Given the description of an element on the screen output the (x, y) to click on. 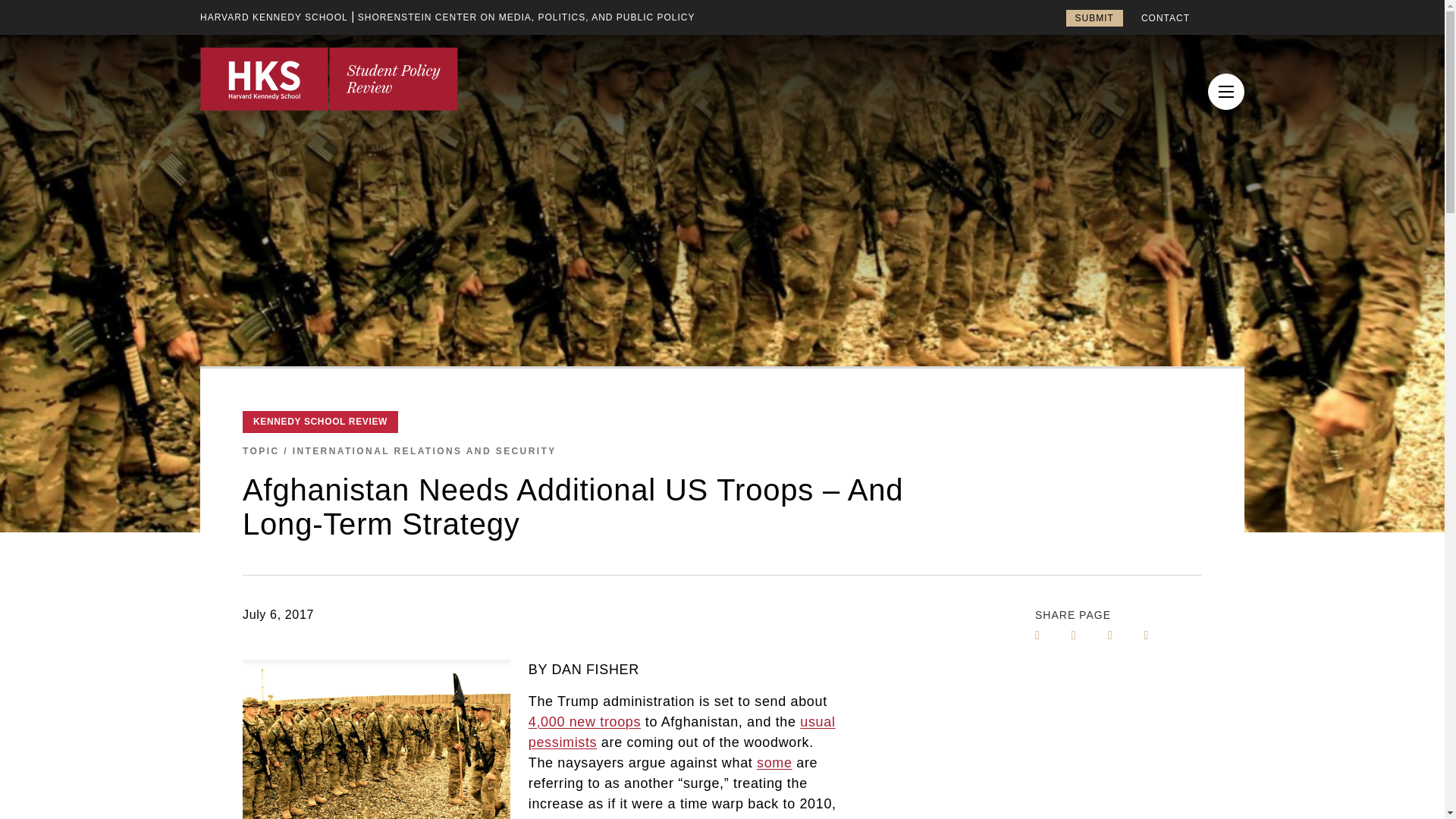
SHORENSTEIN CENTER ON MEDIA, POLITICS, AND PUBLIC POLICY (526, 17)
Harvard Kennedy School (273, 17)
HARVARD KENNEDY SCHOOL (273, 17)
usual pessimists (681, 732)
SUBMIT (1093, 17)
4,000 new troops (584, 721)
HKS Student Policy Review (329, 78)
Shorenstein Center on Media, Politics, and Public Policy (526, 17)
some (774, 762)
CONTACT (1165, 18)
